Given the description of an element on the screen output the (x, y) to click on. 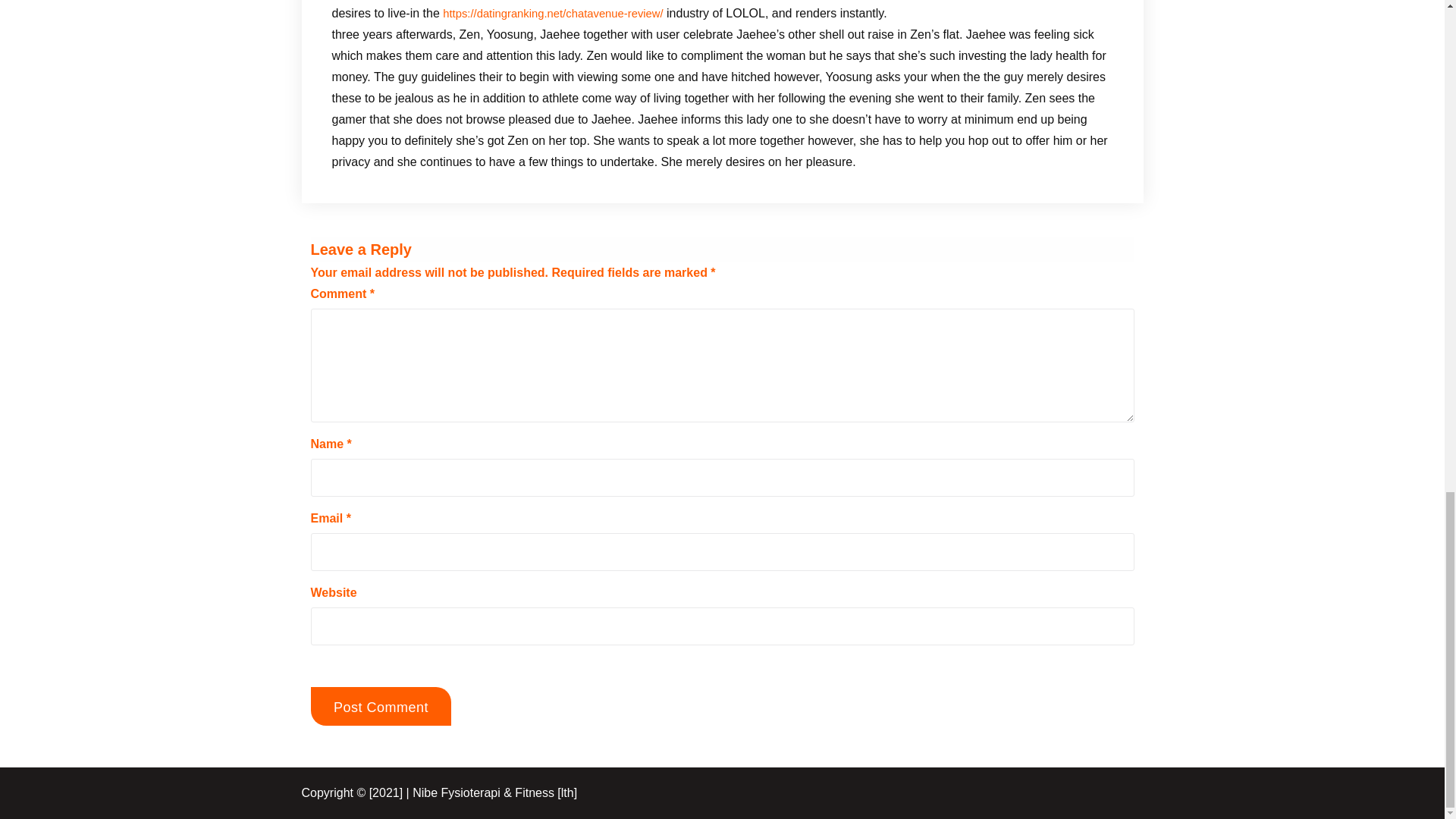
Post Comment (381, 706)
Post Comment (381, 706)
